Given the description of an element on the screen output the (x, y) to click on. 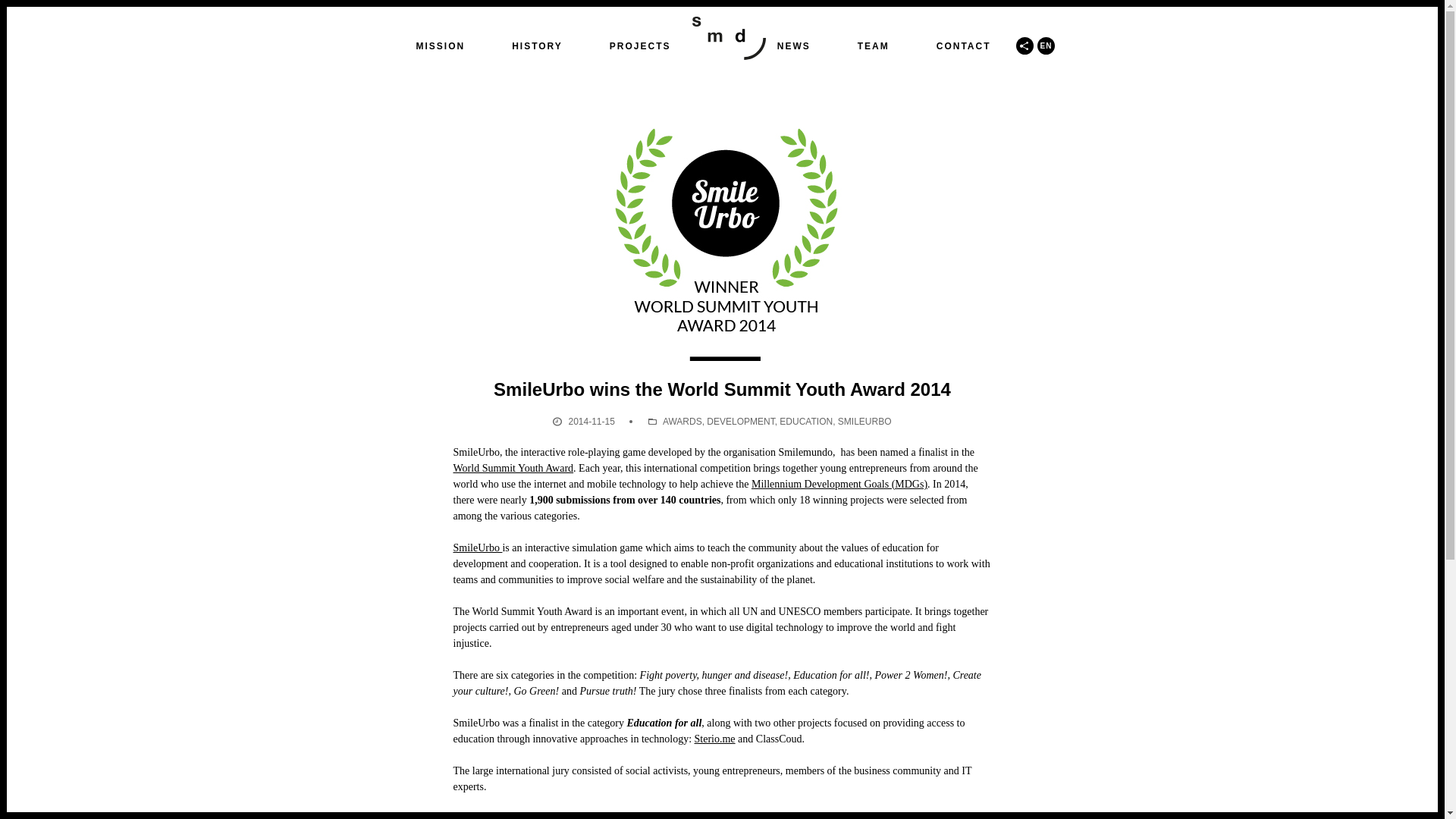
MISSION (439, 45)
AWARDS (681, 421)
Sterio.me (714, 738)
EDUCATION (805, 421)
World Summit Youth Award (512, 468)
PROJECTS (640, 45)
DEVELOPMENT (740, 421)
CONTACT (963, 45)
